Given the description of an element on the screen output the (x, y) to click on. 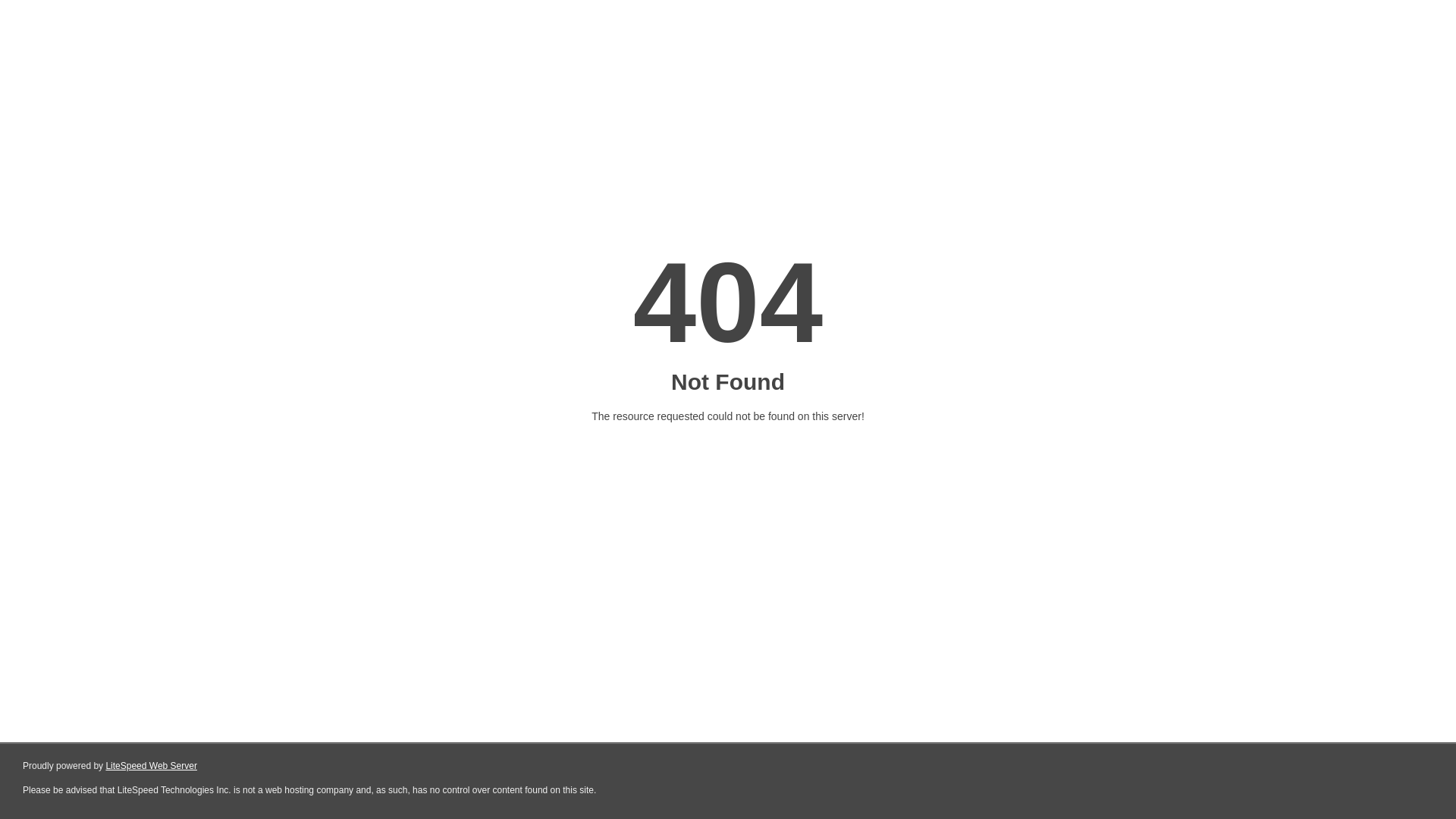
LiteSpeed Web Server Element type: text (151, 765)
